Given the description of an element on the screen output the (x, y) to click on. 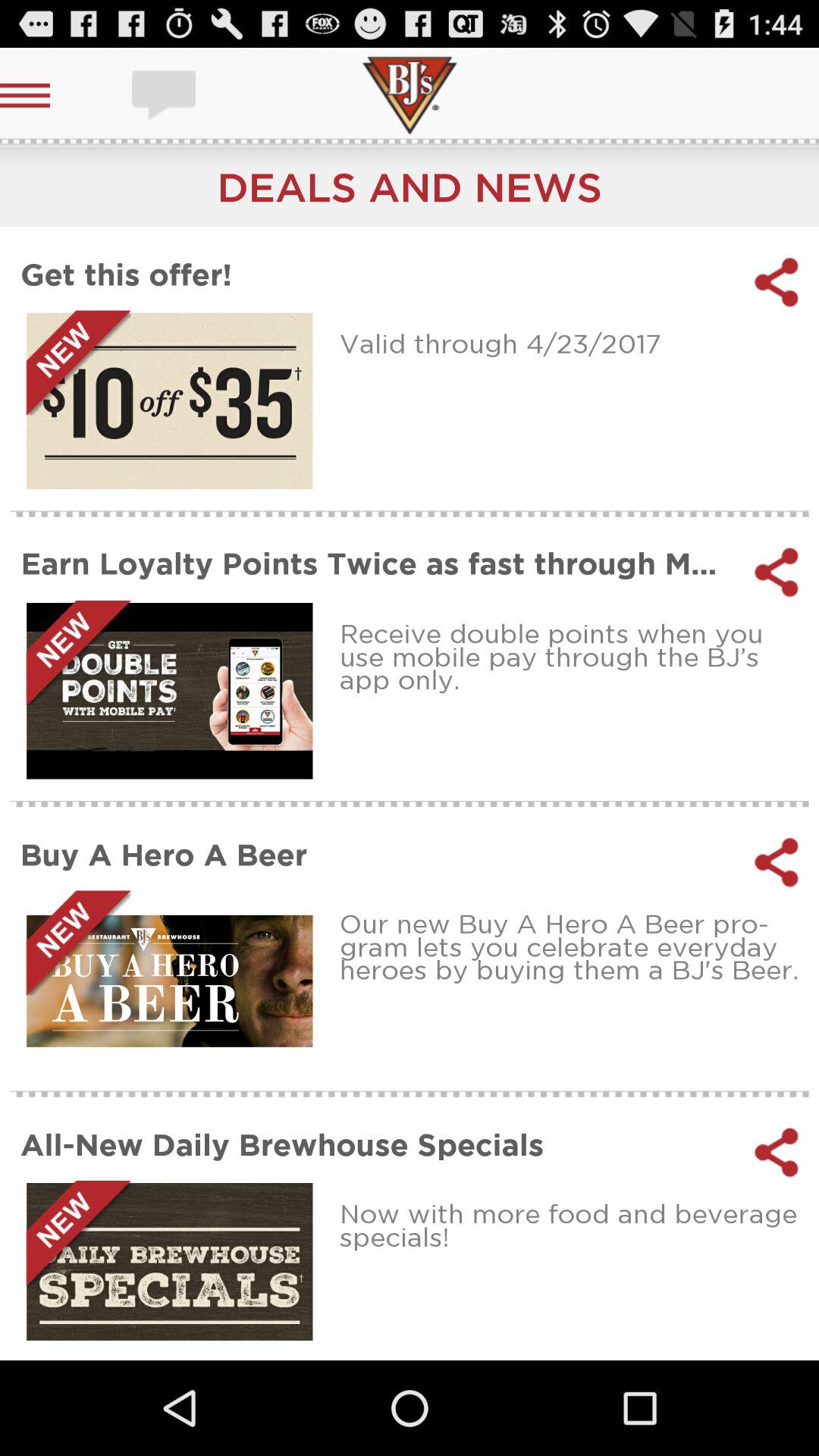
open the all new daily icon (377, 1144)
